Given the description of an element on the screen output the (x, y) to click on. 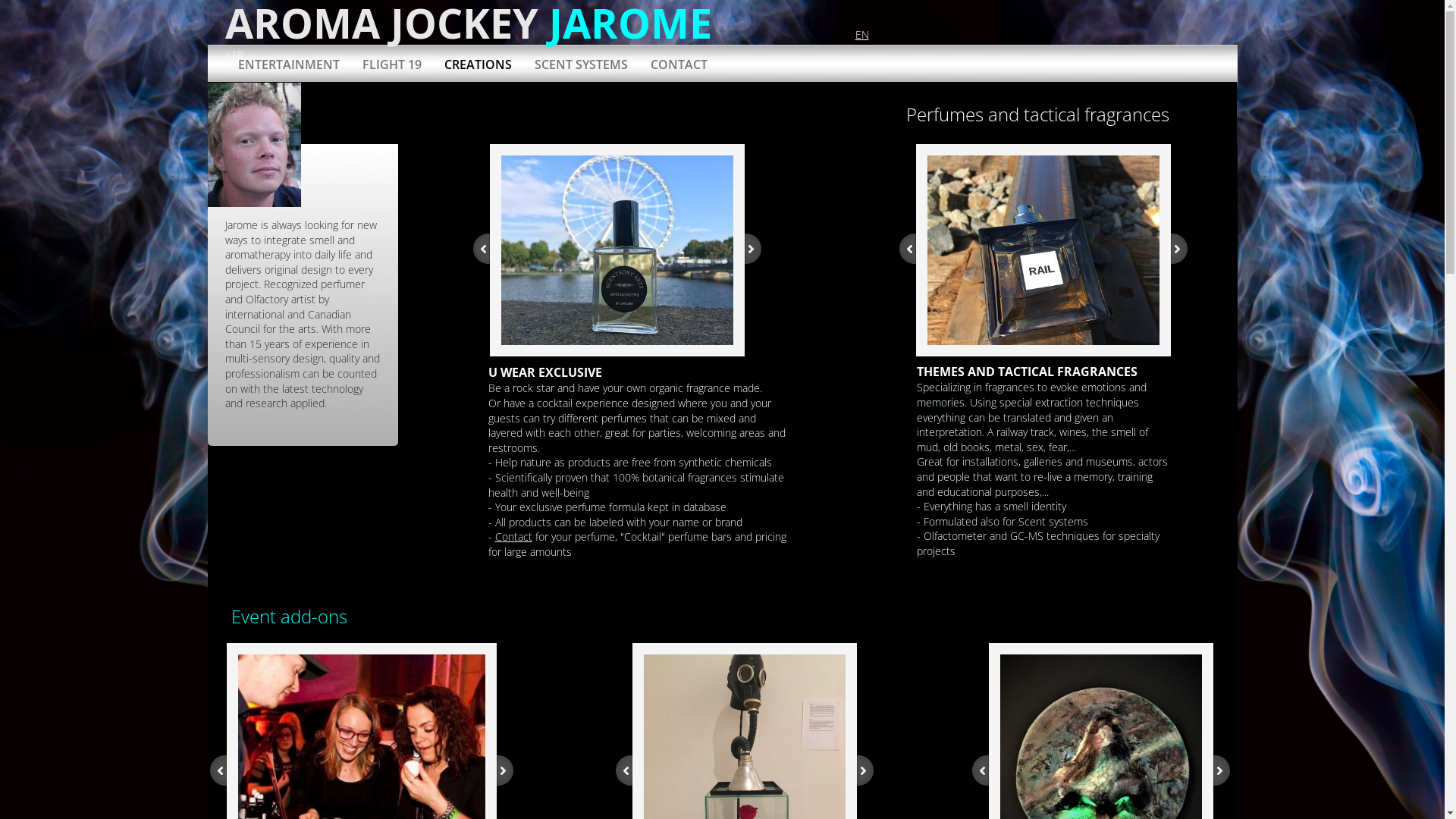
FR Element type: text (237, 54)
FLIGHT 19 Element type: text (391, 64)
Contact Element type: text (512, 536)
SCENT SYSTEMS Element type: text (581, 64)
EN Element type: text (862, 34)
CREATIONS Element type: text (477, 64)
CONTACT Element type: text (678, 64)
ENTERTAINMENT Element type: text (287, 64)
